Given the description of an element on the screen output the (x, y) to click on. 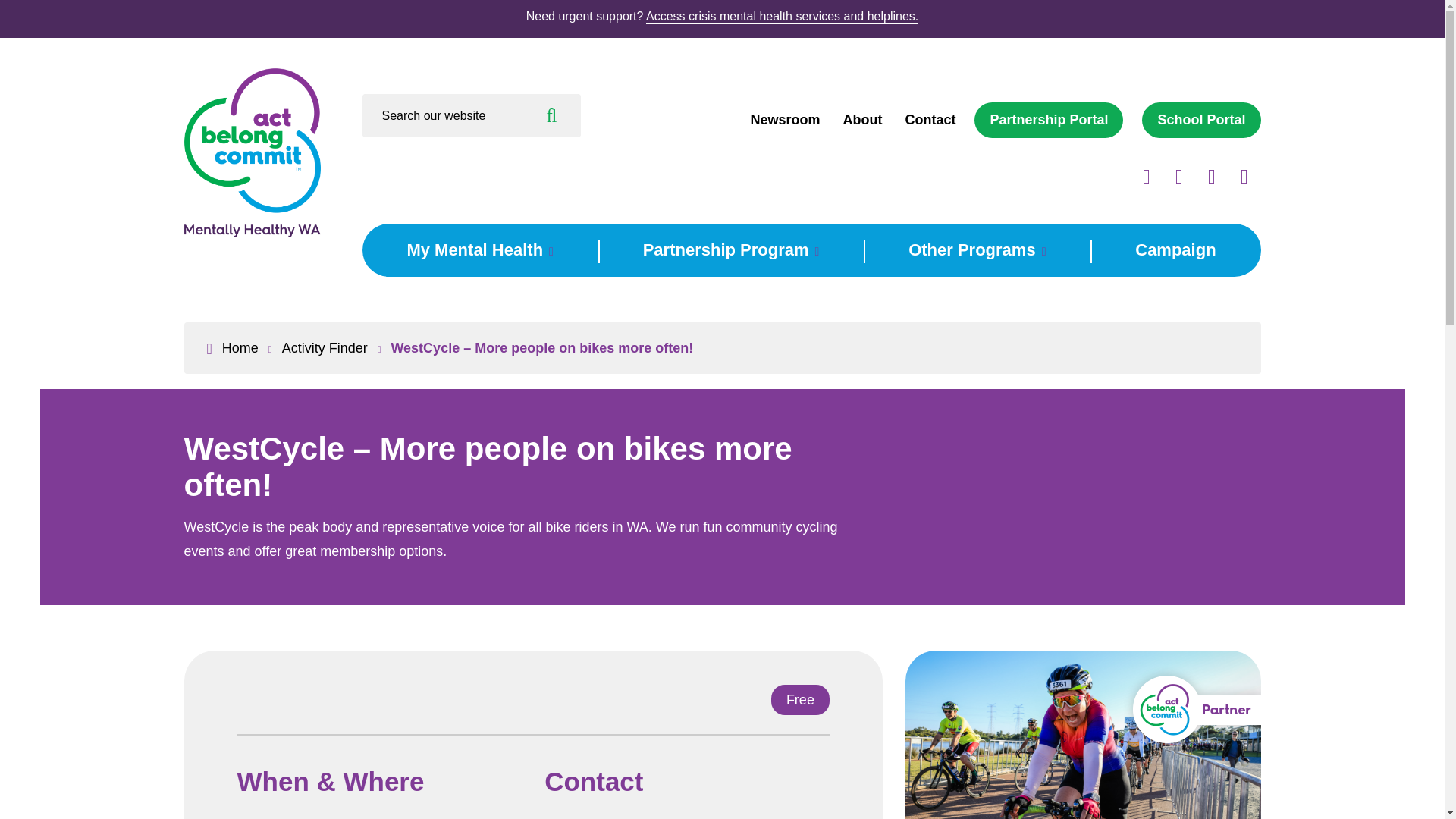
Newsroom (784, 119)
Go to Activity Finder. (325, 348)
My Mental Health (479, 249)
Go to Home. (240, 348)
Partnership Program (731, 249)
Submit website search (551, 115)
About (862, 119)
Access crisis mental health services and helplines. (782, 16)
Contact (929, 119)
School Portal (1200, 120)
